Given the description of an element on the screen output the (x, y) to click on. 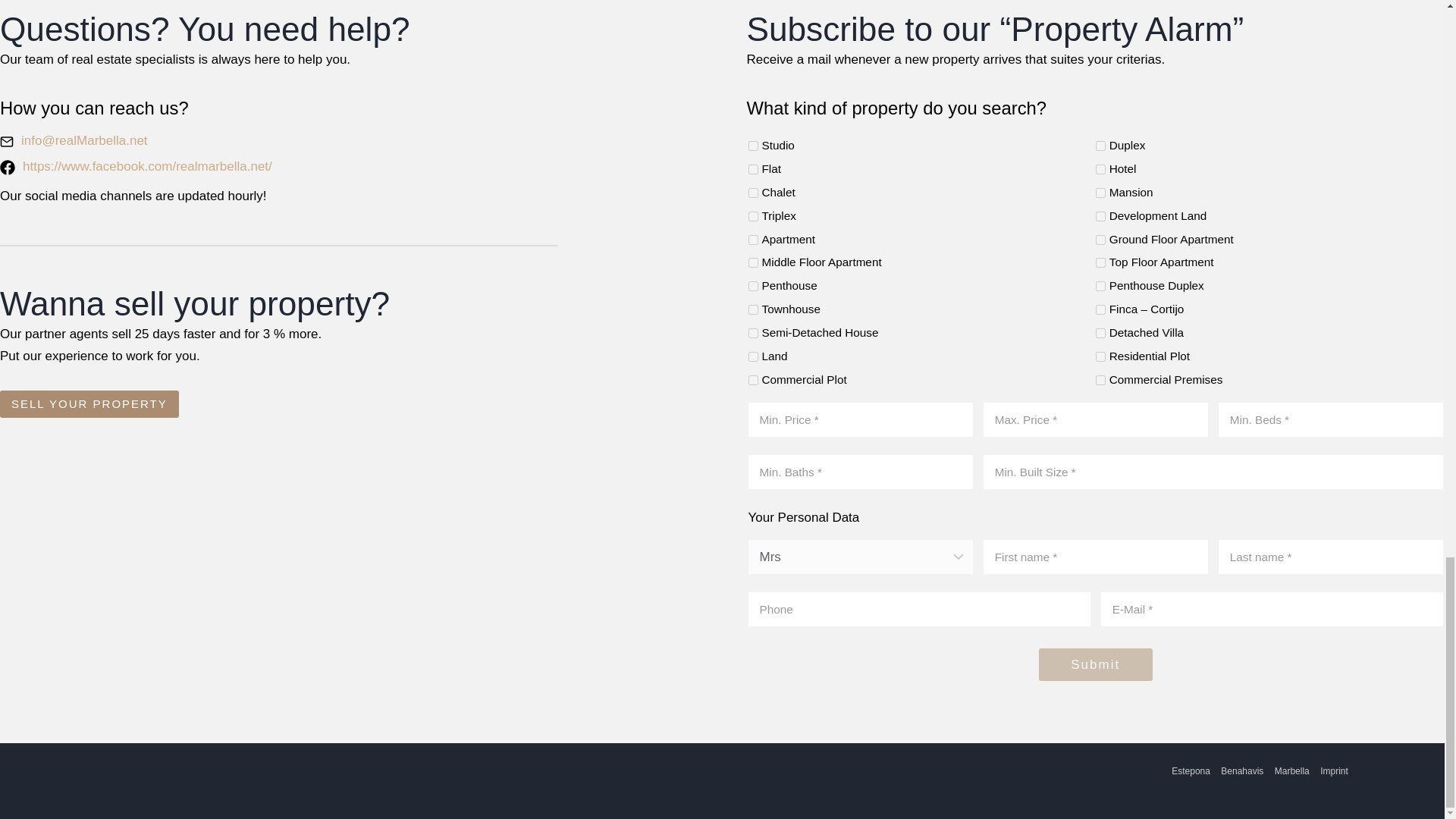
709 (752, 286)
2091 (1100, 216)
2076 (1100, 193)
1969 (752, 145)
797 (1100, 262)
685 (752, 239)
734 (752, 309)
803 (752, 262)
773 (1100, 309)
733 (752, 333)
